Given the description of an element on the screen output the (x, y) to click on. 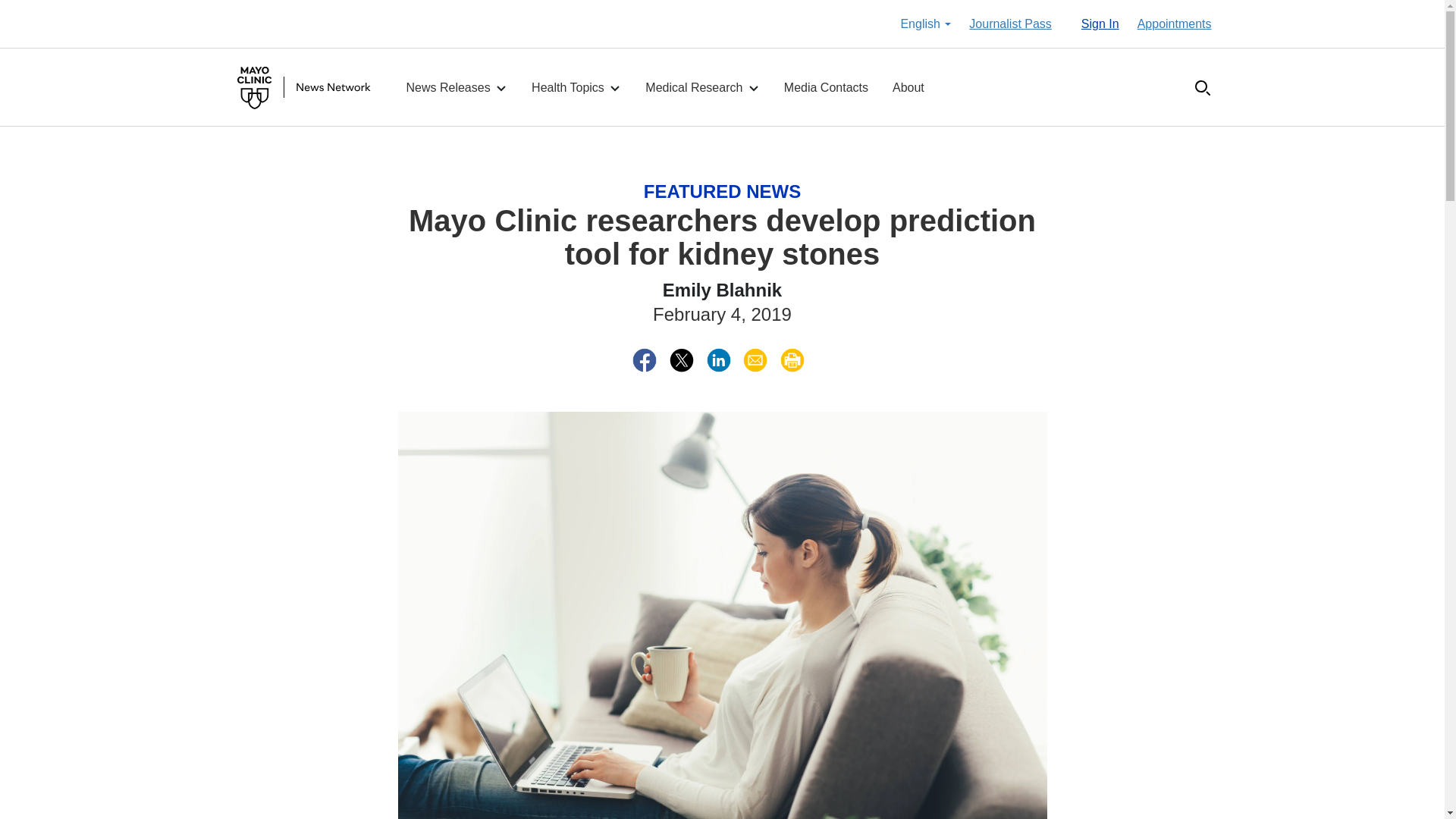
Medical Research (702, 87)
Appointments (1174, 24)
Health Topics (576, 87)
Sign In (1100, 23)
Health Topics (576, 87)
Journalist Pass (1010, 23)
Journalist Pass (1010, 23)
English (924, 23)
English (924, 23)
News Releases (457, 87)
News Releases (457, 87)
